Given the description of an element on the screen output the (x, y) to click on. 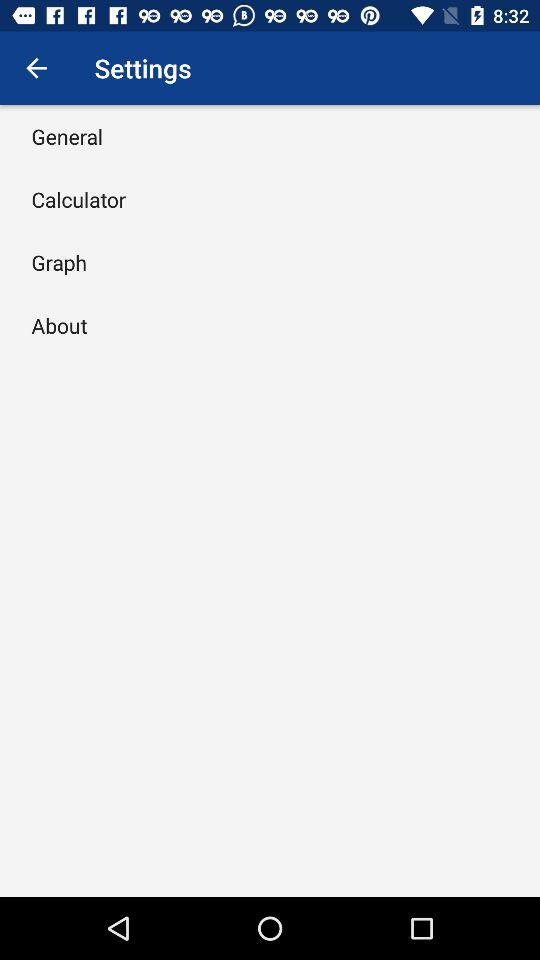
press the item below the calculator item (59, 262)
